Given the description of an element on the screen output the (x, y) to click on. 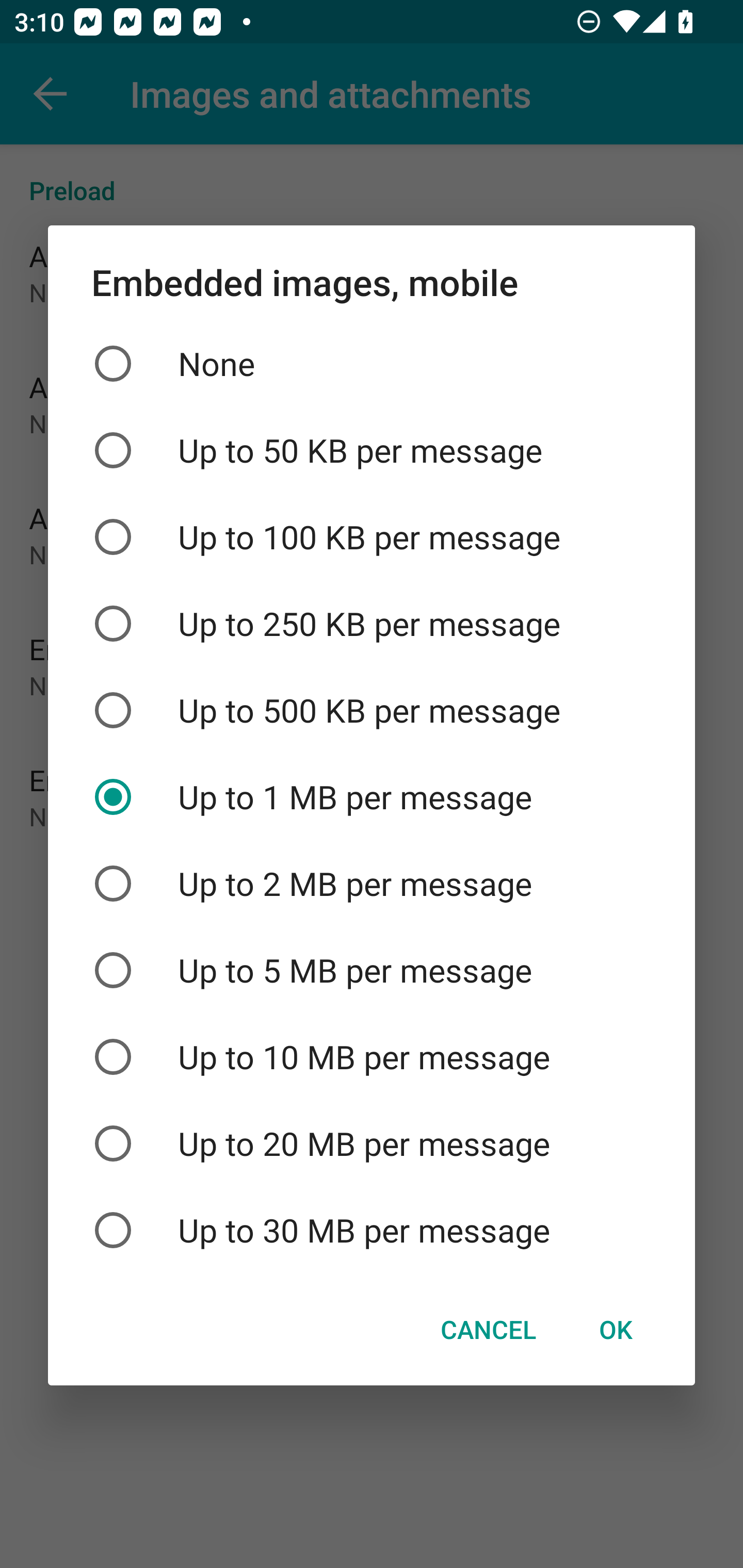
None (371, 363)
Up to 50 KB per message (371, 450)
Up to 100 KB per message (371, 536)
Up to 250 KB per message (371, 623)
Up to 500 KB per message (371, 710)
Up to 1 MB per message (371, 797)
Up to 2 MB per message (371, 883)
Up to 5 MB per message (371, 969)
Up to 10 MB per message (371, 1056)
Up to 20 MB per message (371, 1143)
Up to 30 MB per message (371, 1229)
CANCEL (488, 1329)
OK (615, 1329)
